Given the description of an element on the screen output the (x, y) to click on. 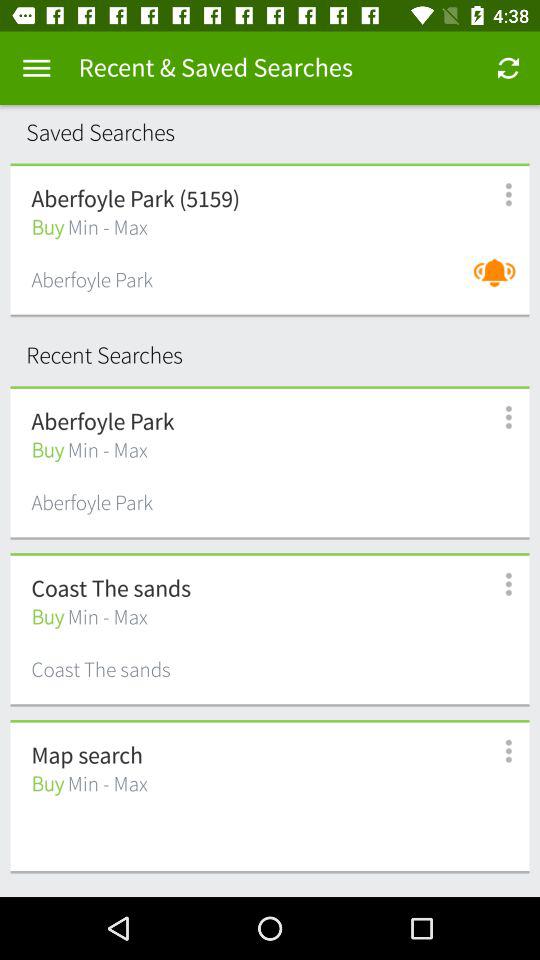
change volume (499, 282)
